Given the description of an element on the screen output the (x, y) to click on. 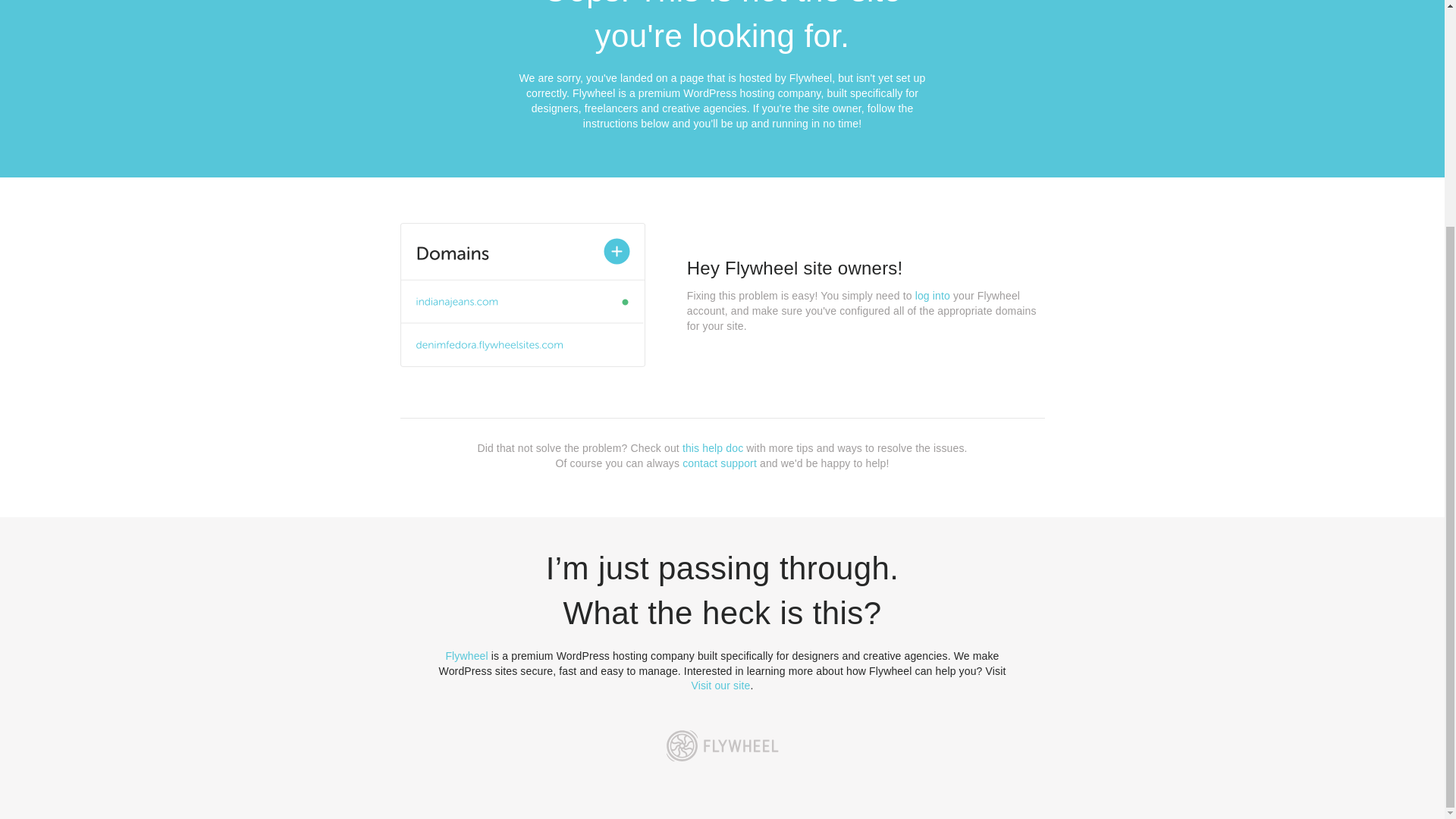
Flywheel (466, 655)
contact support (719, 463)
this help doc (712, 448)
log into (932, 295)
Visit our site (721, 685)
